Given the description of an element on the screen output the (x, y) to click on. 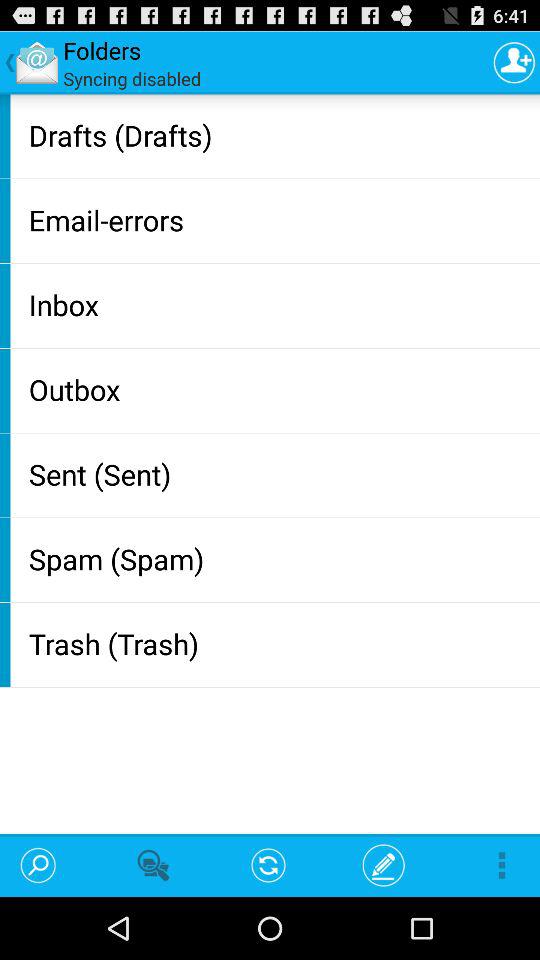
tap app above inbox item (280, 219)
